Given the description of an element on the screen output the (x, y) to click on. 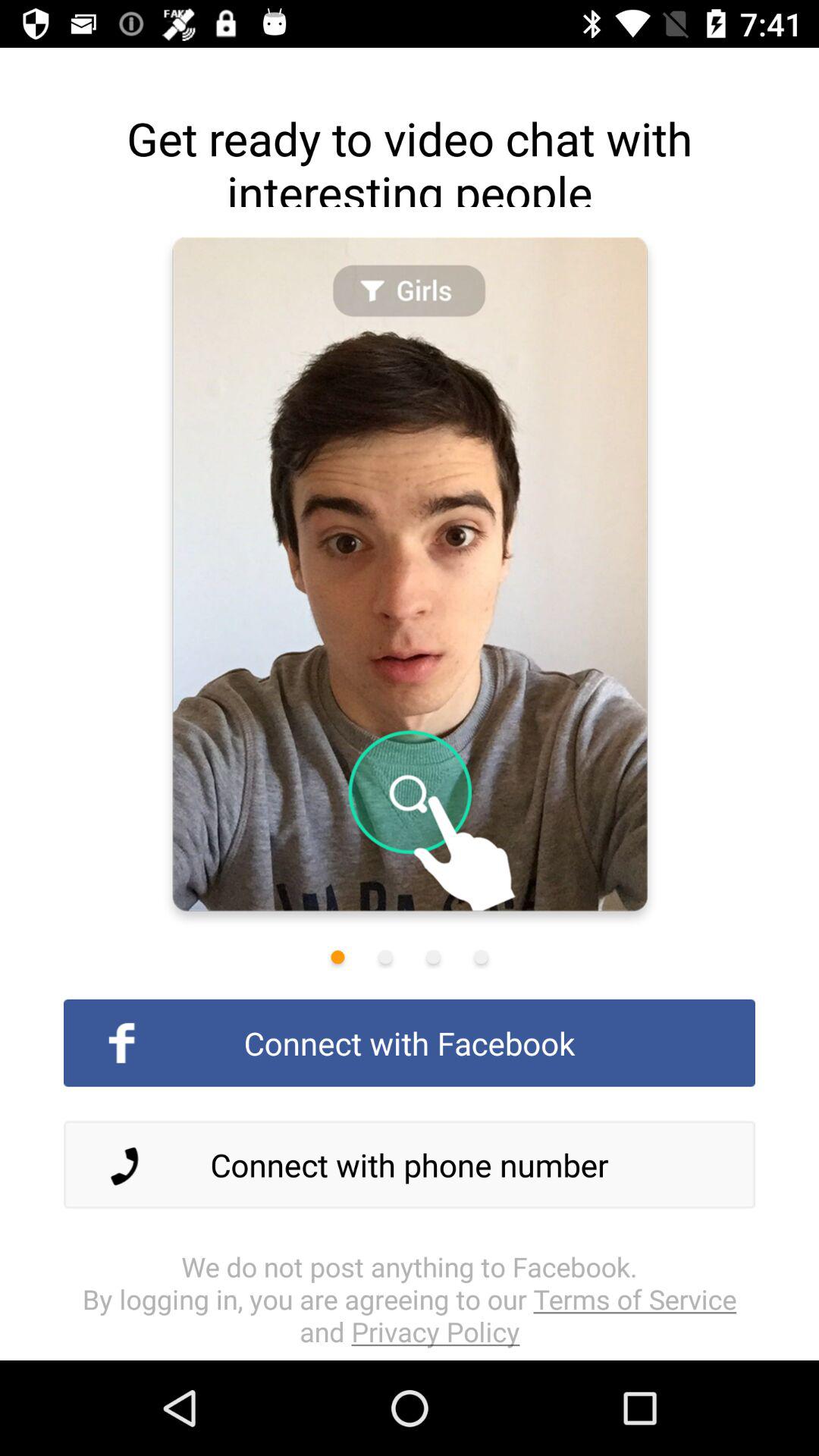
go to first image (337, 957)
